Given the description of an element on the screen output the (x, y) to click on. 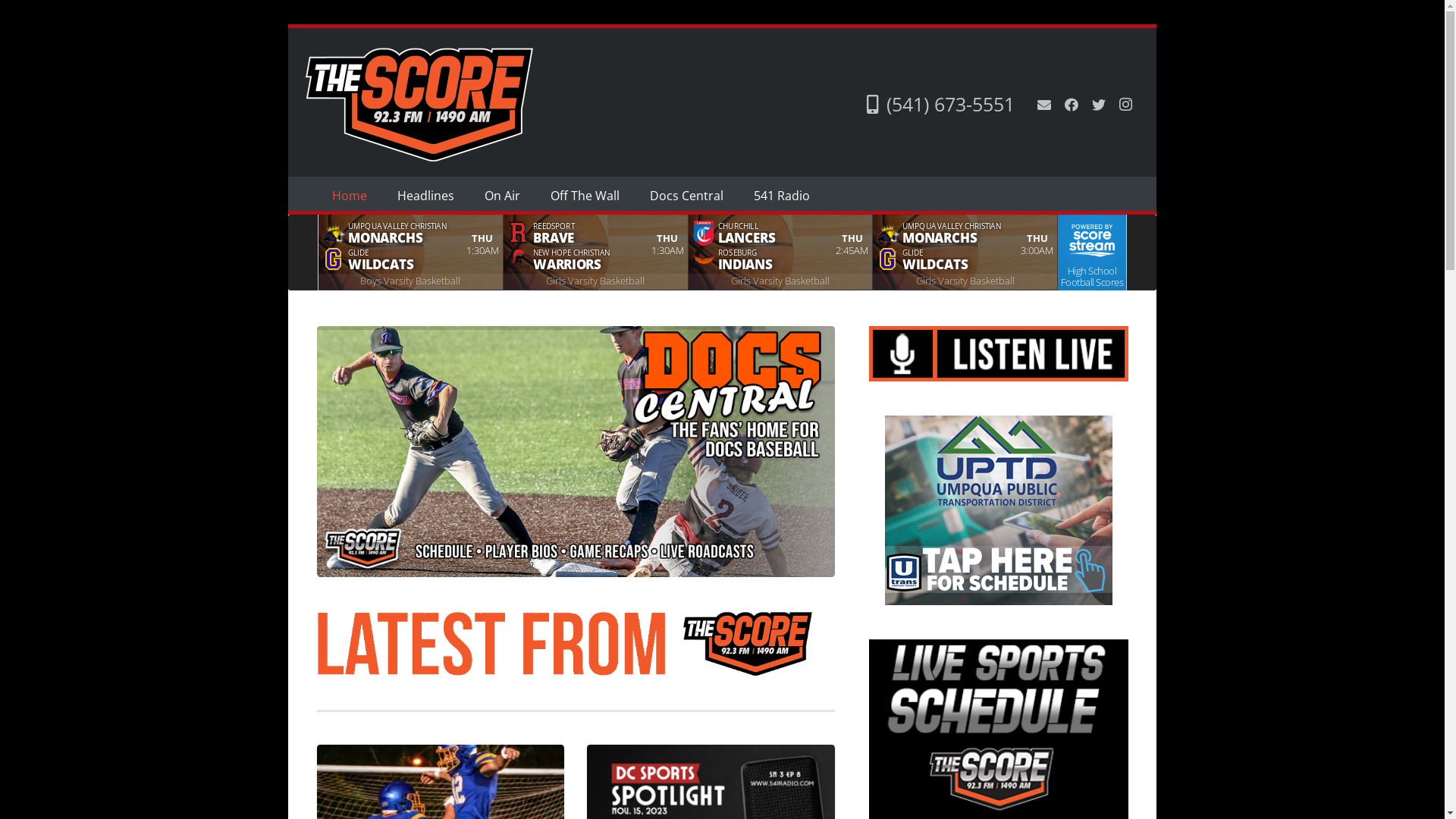
On Air Element type: text (501, 195)
Instagram Element type: hover (1125, 104)
Headlines Element type: text (425, 195)
Email Element type: hover (1043, 104)
Home Element type: text (349, 195)
Facebook Element type: hover (1070, 104)
Off The Wall Element type: text (584, 195)
Twitter Element type: hover (1097, 104)
541 Radio Element type: text (781, 195)
Docs Central Element type: text (685, 195)
Realtime sports scoreboard widget Element type: hover (722, 252)
